Given the description of an element on the screen output the (x, y) to click on. 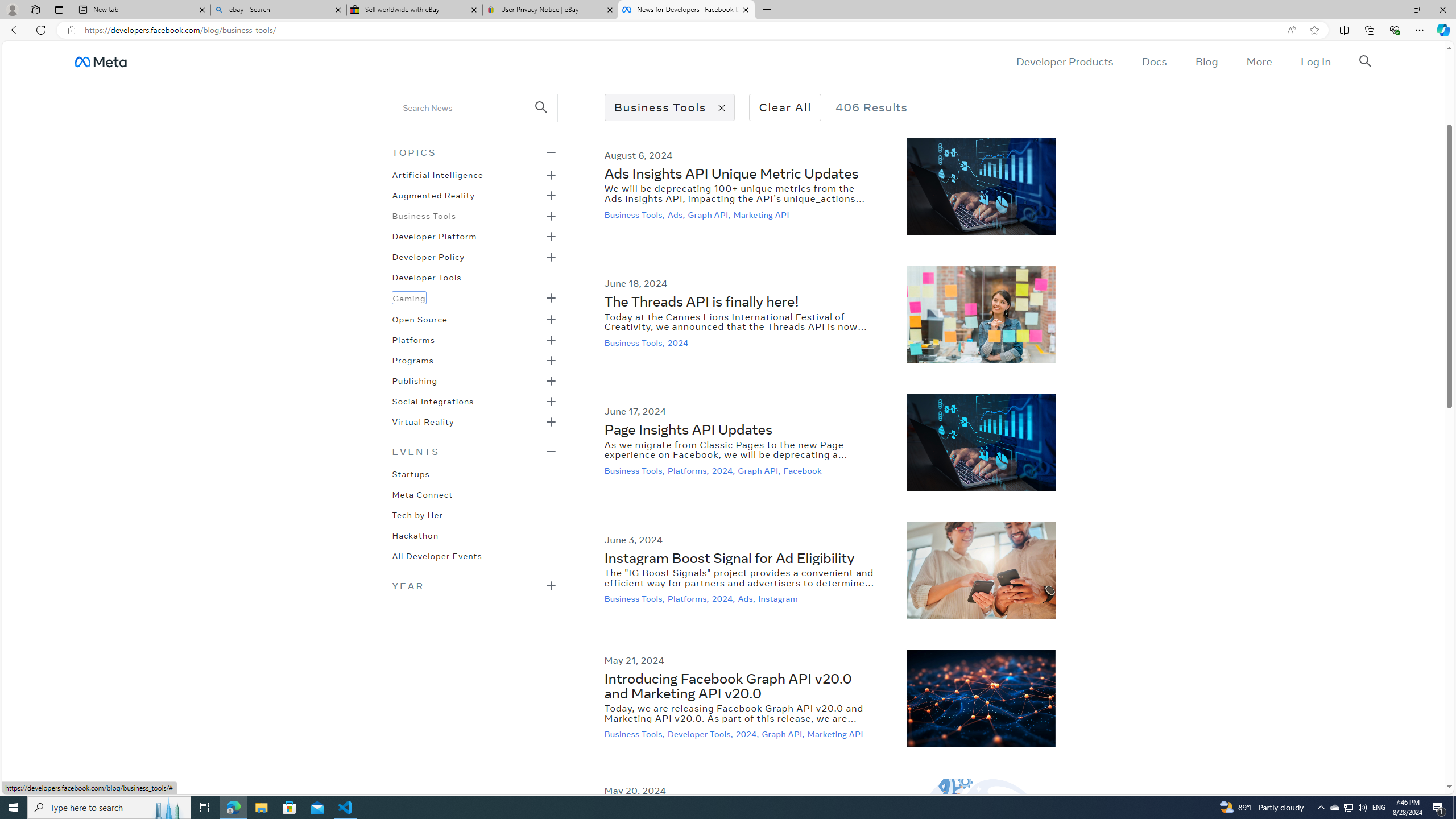
Docs (1153, 61)
Class: _58al (467, 107)
2024 (678, 342)
Class: _9890 _98ez (474, 585)
More (1259, 61)
Class: _98ce (545, 115)
Developer Tools, (700, 733)
Developer Platform (434, 235)
